Given the description of an element on the screen output the (x, y) to click on. 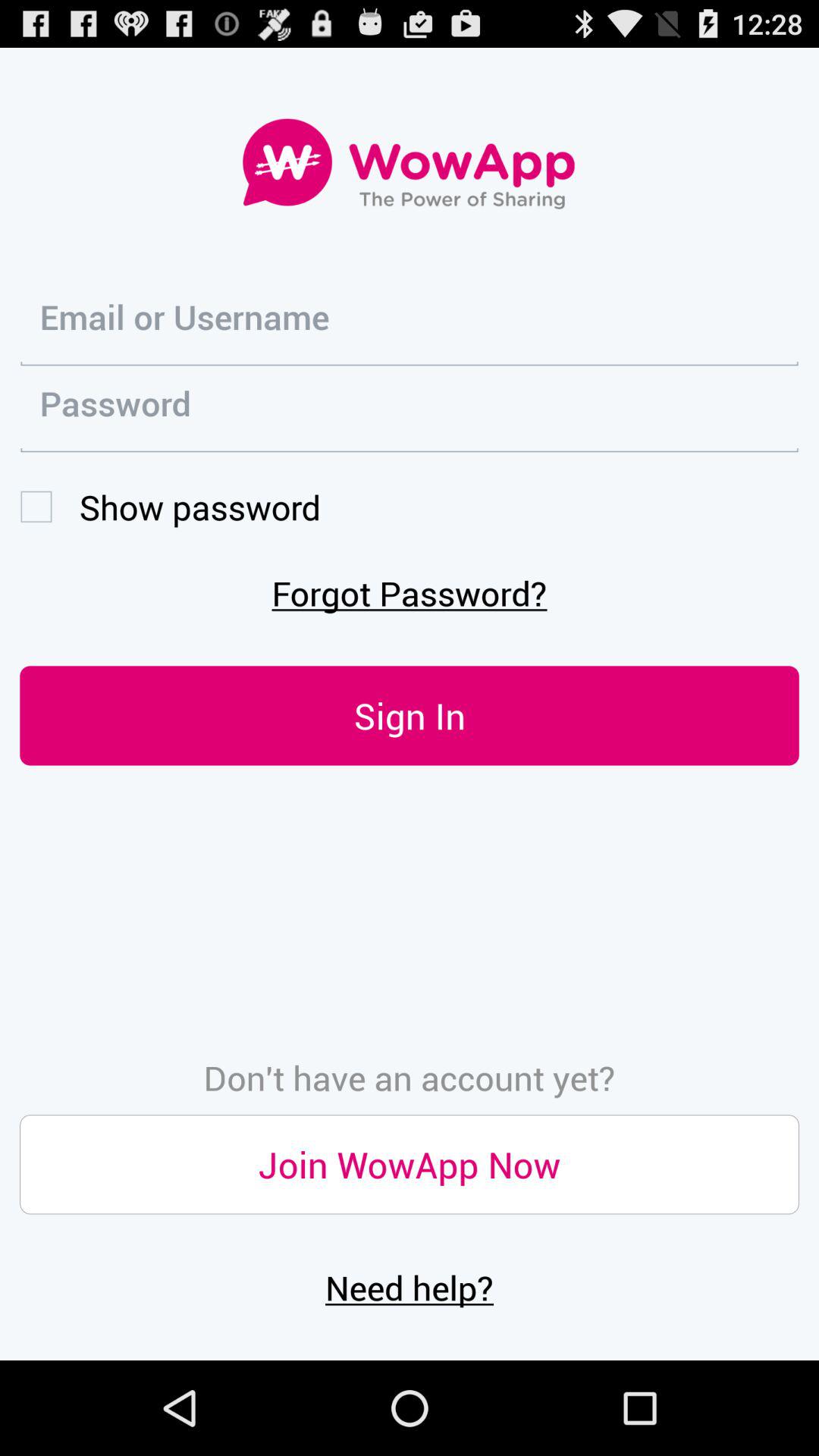
open the icon above the forgot password? item (169, 507)
